Given the description of an element on the screen output the (x, y) to click on. 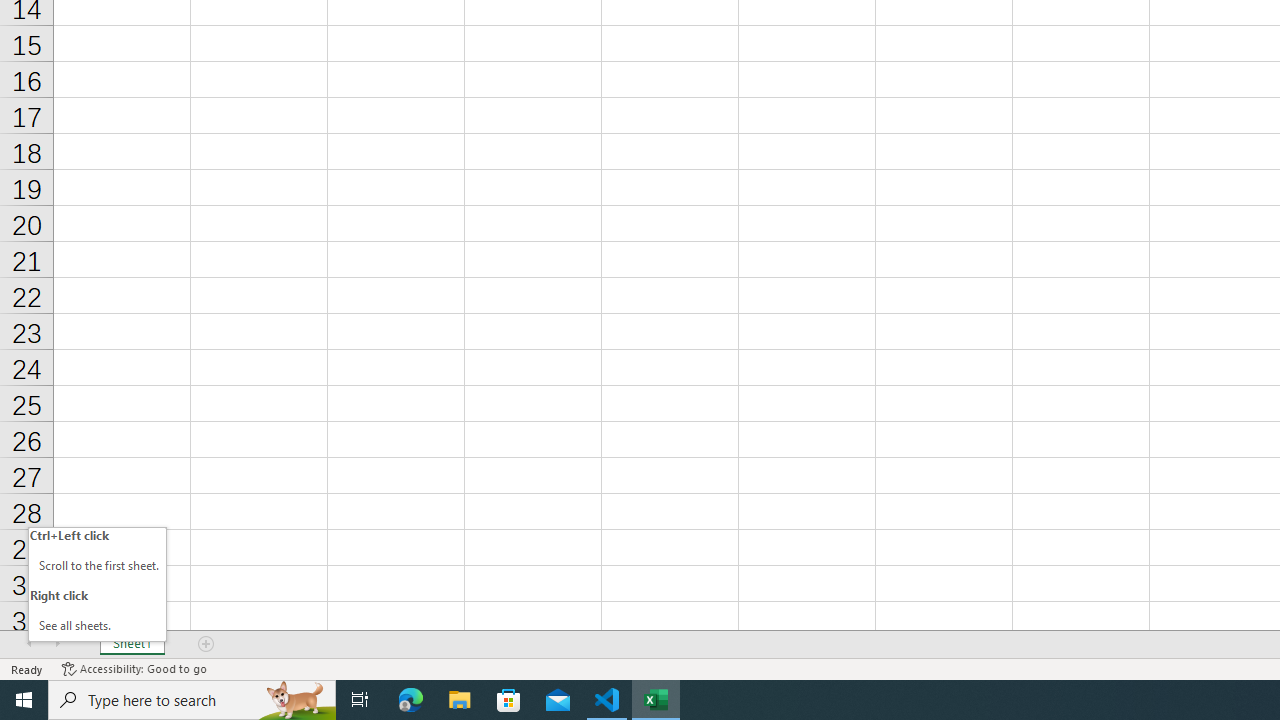
Sheet1 (132, 644)
Accessibility Checker Accessibility: Good to go (134, 668)
Add Sheet (207, 644)
Scroll Left (29, 644)
Scroll Right (57, 644)
